Given the description of an element on the screen output the (x, y) to click on. 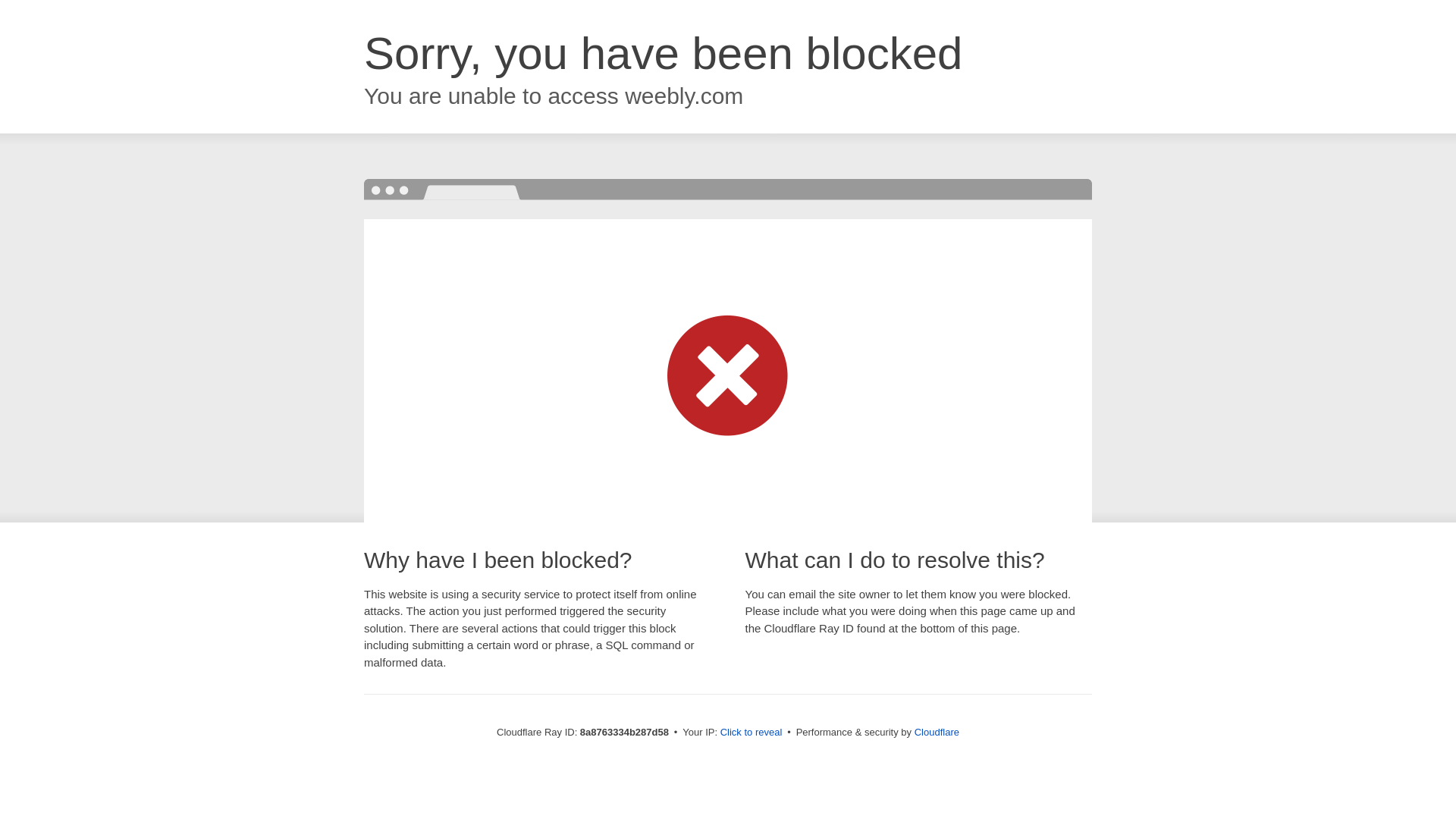
Click to reveal (751, 732)
Cloudflare (936, 731)
